Given the description of an element on the screen output the (x, y) to click on. 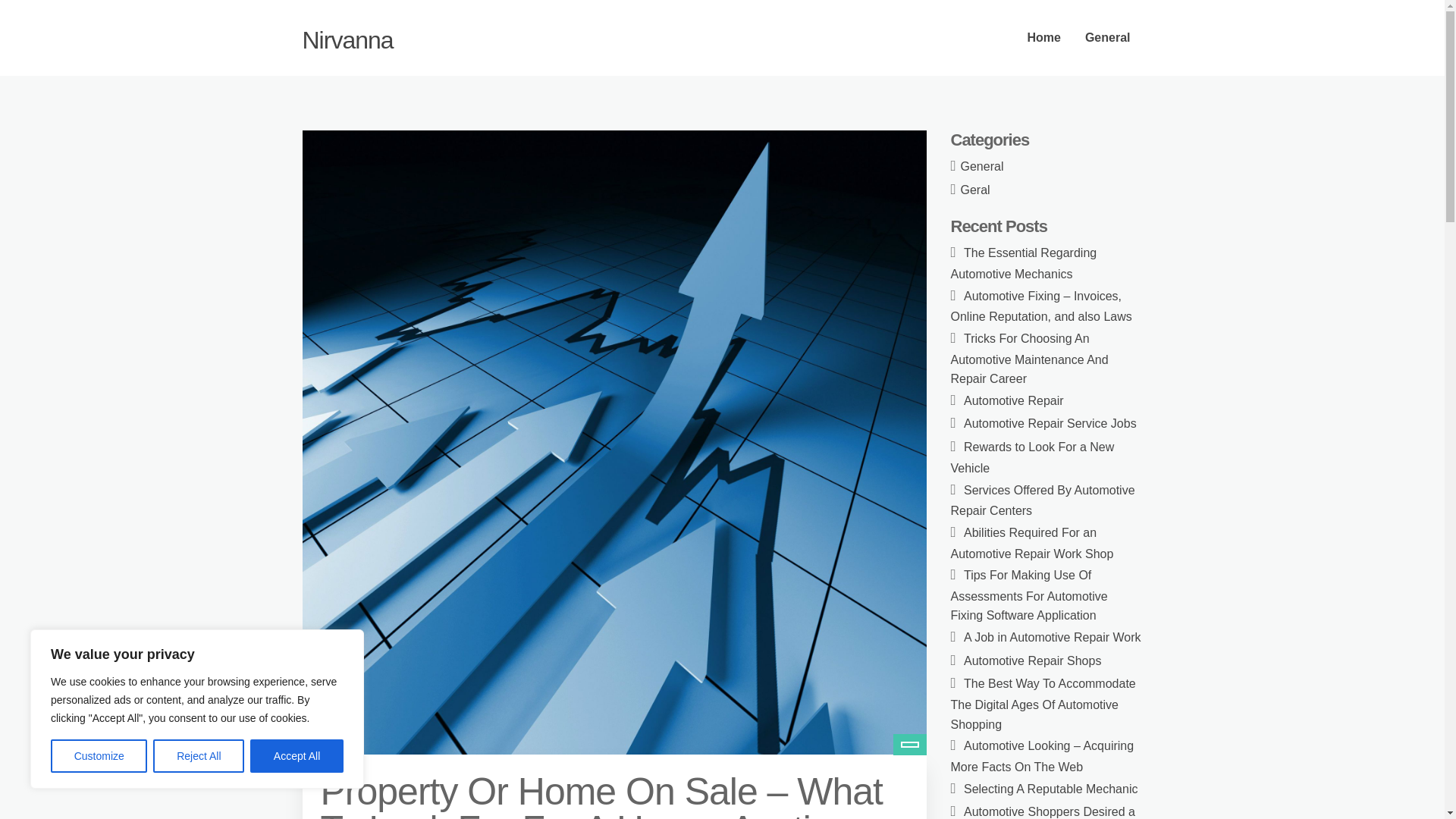
Geral (975, 189)
Nirvanna (347, 39)
Reject All (198, 756)
Home (1042, 37)
General (982, 165)
General (1107, 37)
Accept All (296, 756)
Customize (98, 756)
